Given the description of an element on the screen output the (x, y) to click on. 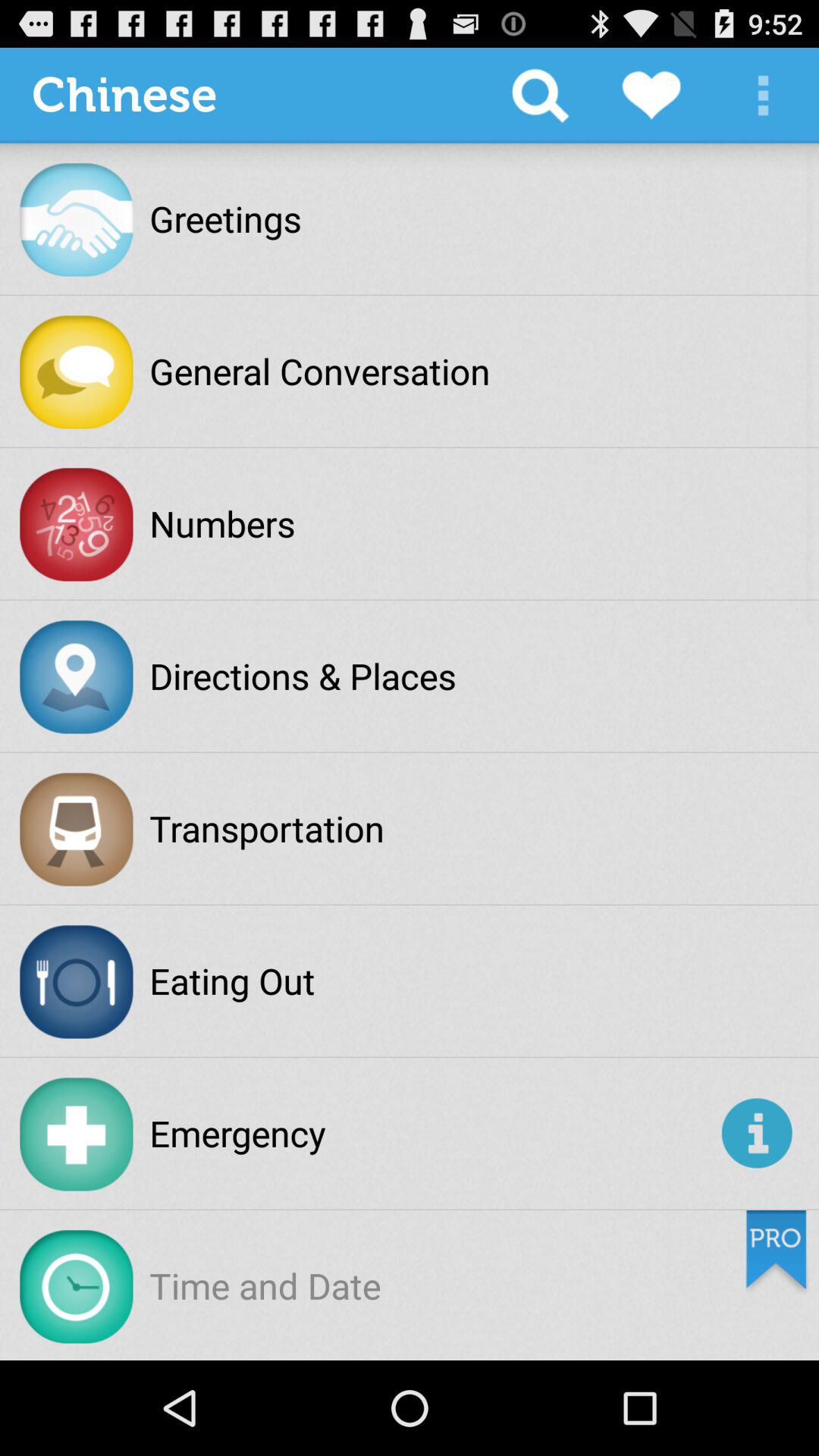
click item below chinese (225, 218)
